Given the description of an element on the screen output the (x, y) to click on. 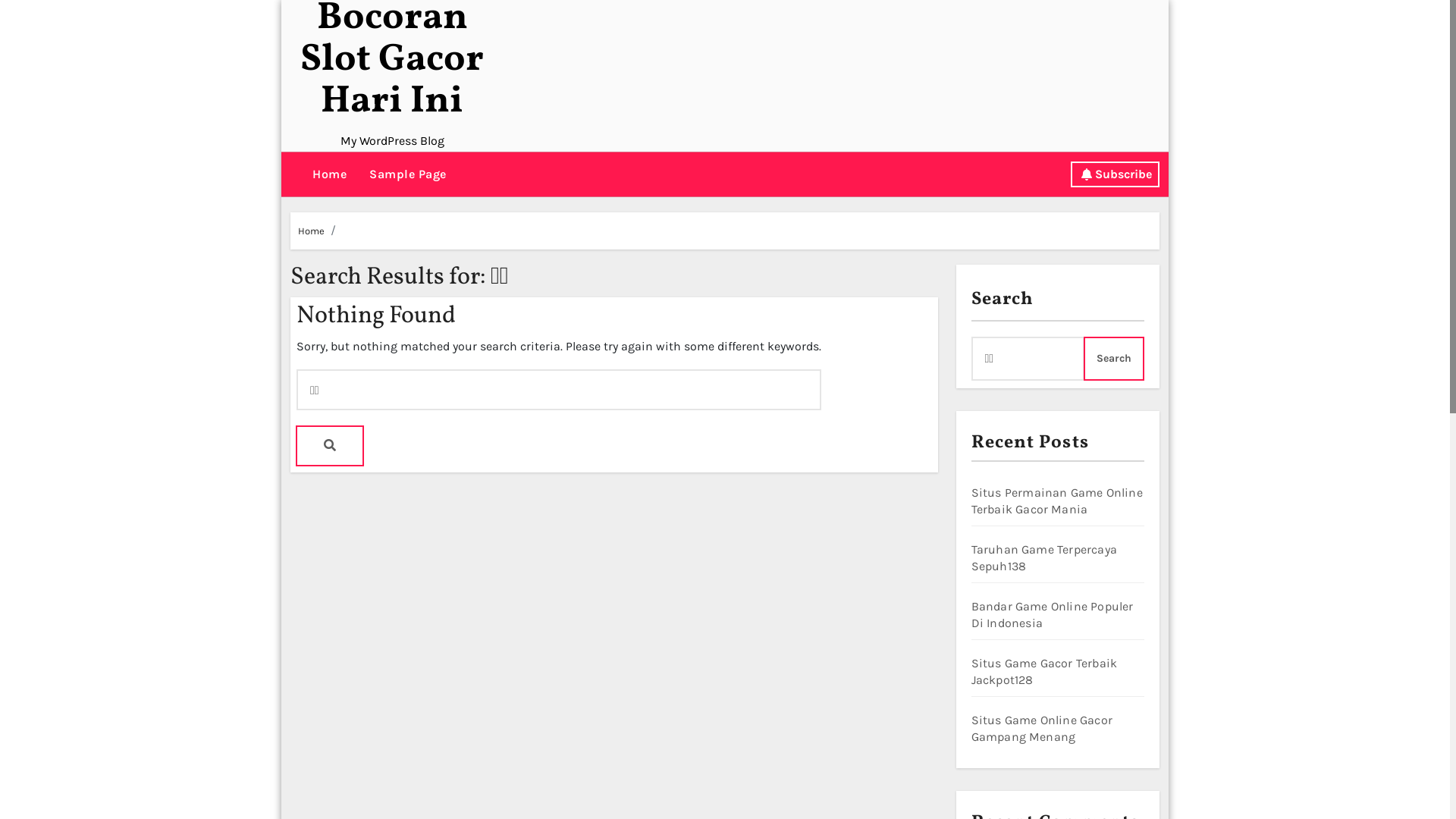
Bandar Game Online Populer Di Indonesia Element type: text (1051, 614)
Home Element type: text (311, 230)
Home Element type: text (329, 174)
Search Element type: text (1113, 358)
Situs Game Gacor Terbaik Jackpot128 Element type: text (1043, 671)
Situs Permainan Game Online Terbaik Gacor Mania Element type: text (1056, 500)
Sample Page Element type: text (407, 174)
Situs Game Online Gacor Gampang Menang Element type: text (1041, 727)
Taruhan Game Terpercaya Sepuh138 Element type: text (1043, 557)
Subscribe Element type: text (1114, 174)
